Given the description of an element on the screen output the (x, y) to click on. 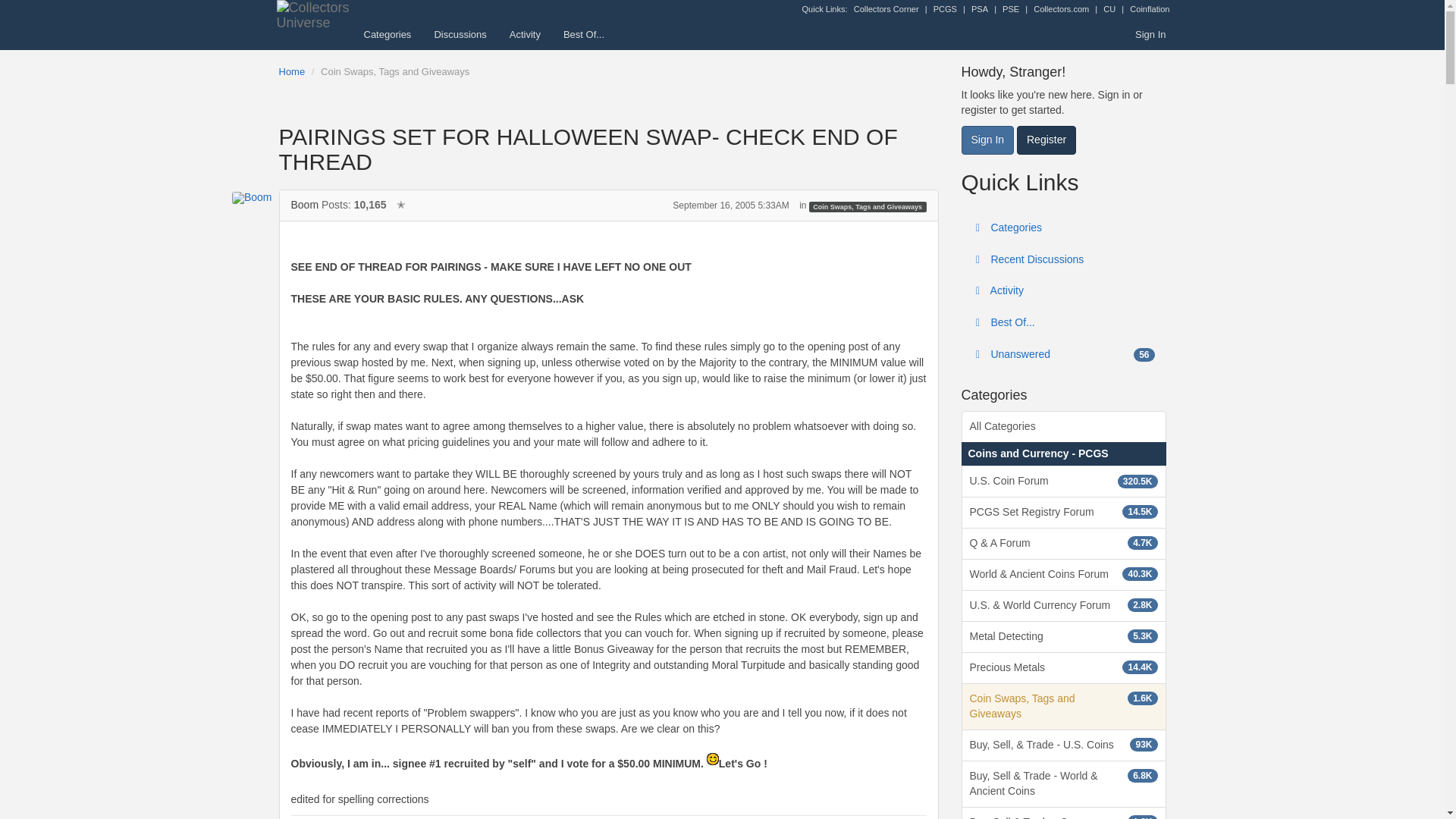
PCGS - Professional Coin Grading (944, 8)
Boom (240, 196)
September 16, 2005 5:33AM (730, 204)
Discussions (459, 34)
PSE - Professional Stamp Experts (1011, 8)
Coinflation (1149, 8)
Boom (304, 204)
Collectors Corner (885, 8)
Collectors.com (1061, 8)
PSA (979, 8)
